Given the description of an element on the screen output the (x, y) to click on. 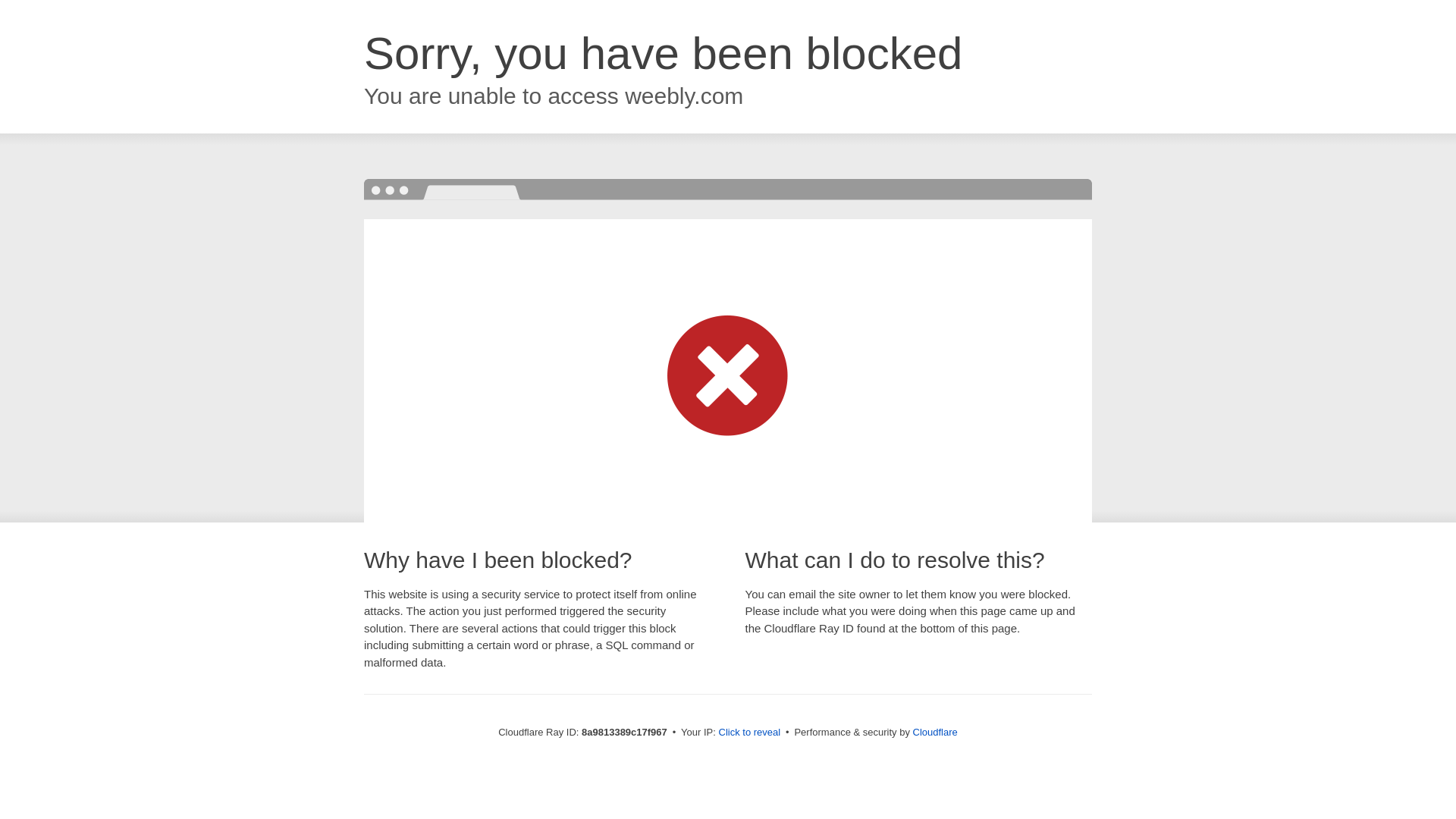
Cloudflare (935, 731)
Click to reveal (749, 732)
